Given the description of an element on the screen output the (x, y) to click on. 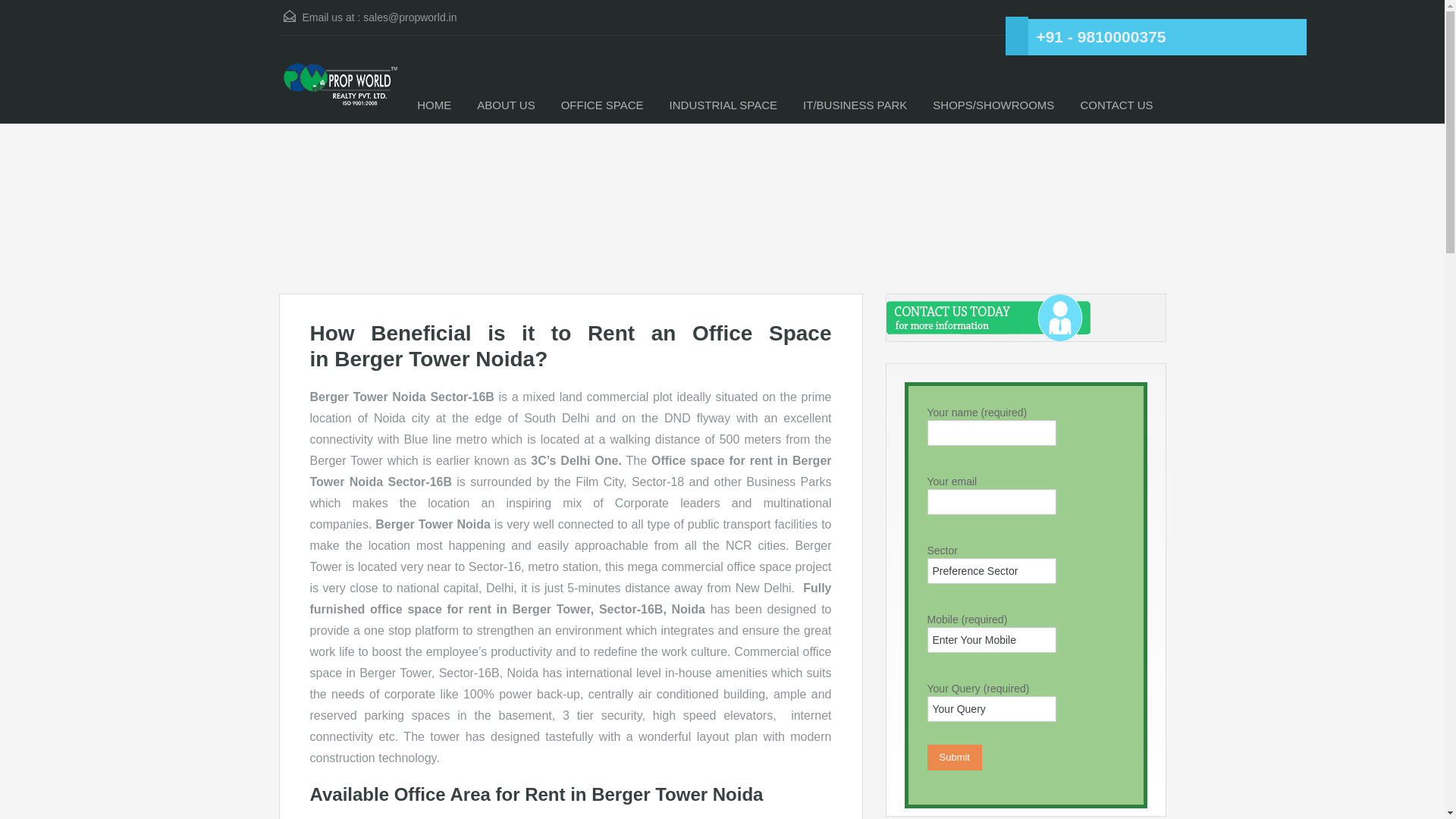
Make a Call (1100, 36)
ABOUT US (505, 104)
HOME (434, 104)
Submit (953, 757)
OFFICE SPACE (602, 104)
